Given the description of an element on the screen output the (x, y) to click on. 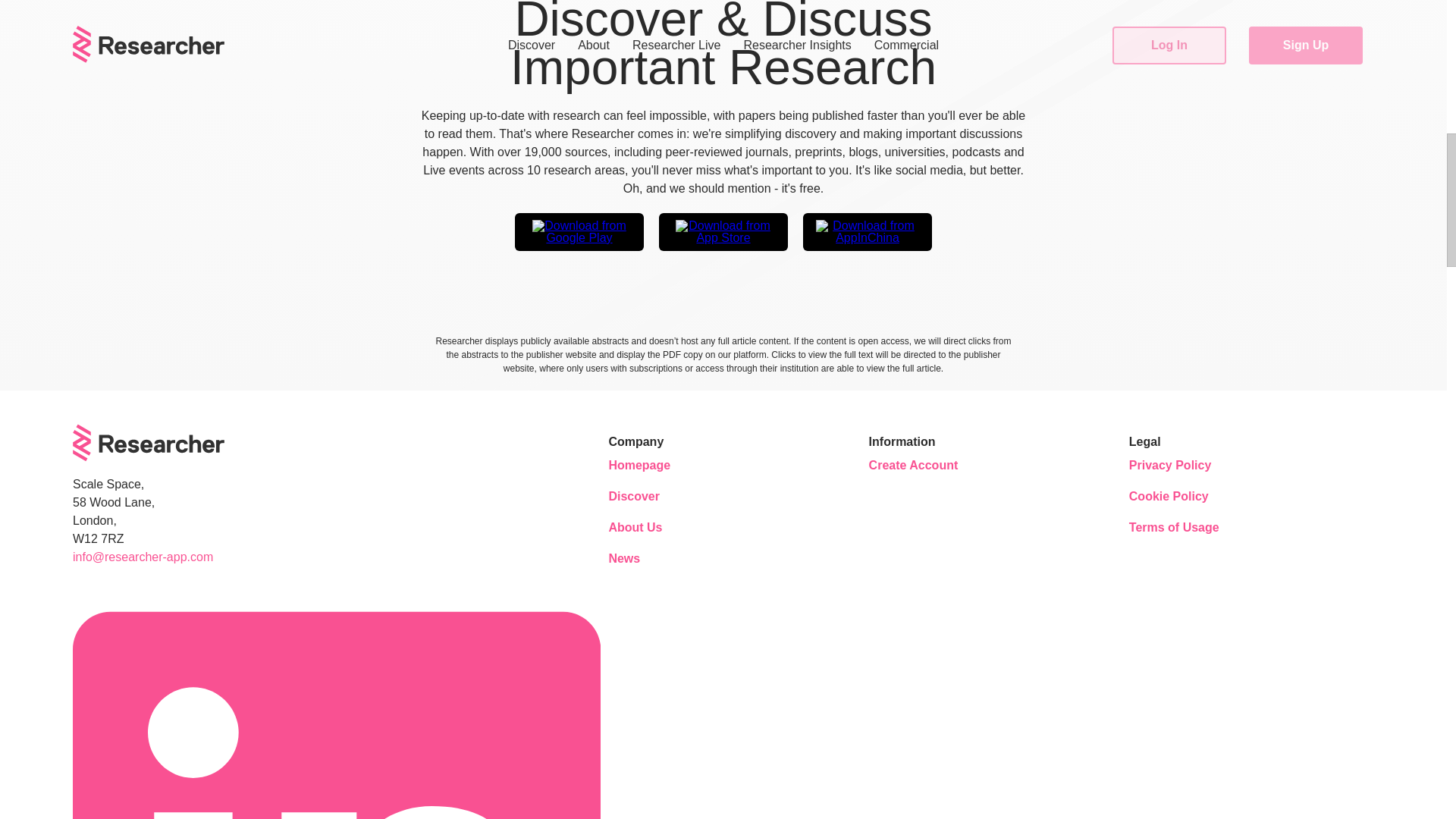
About Us (653, 527)
News (653, 558)
Cookie Policy (1173, 496)
Homepage (653, 465)
Discover (653, 496)
Create Account (914, 465)
Privacy Policy (1173, 465)
Terms of Usage (1173, 527)
